Given the description of an element on the screen output the (x, y) to click on. 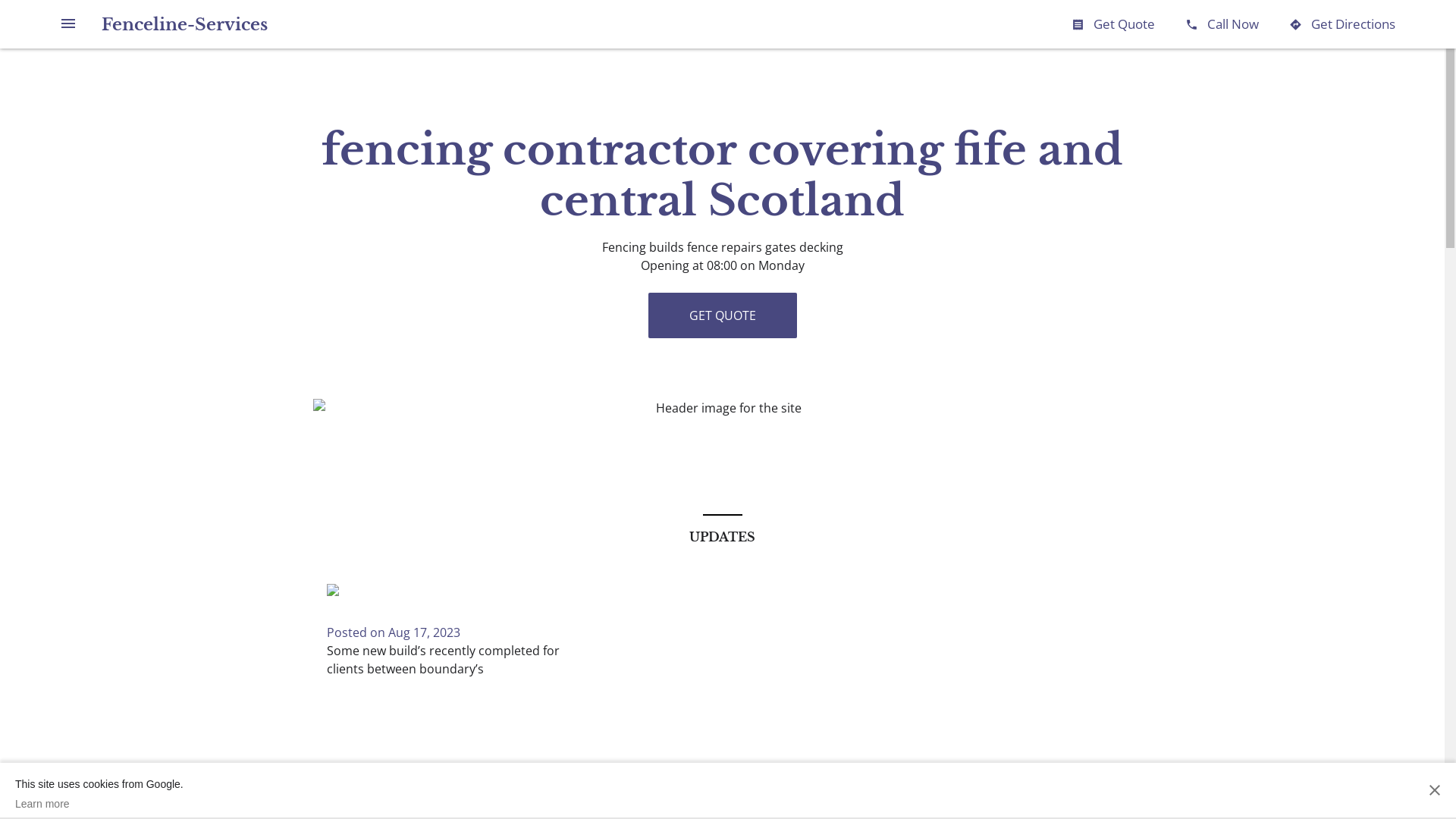
Learn more Element type: text (99, 803)
GET QUOTE Element type: text (721, 315)
Fenceline-Services Element type: text (184, 23)
Posted on Aug 17, 2023 Element type: text (392, 632)
